Given the description of an element on the screen output the (x, y) to click on. 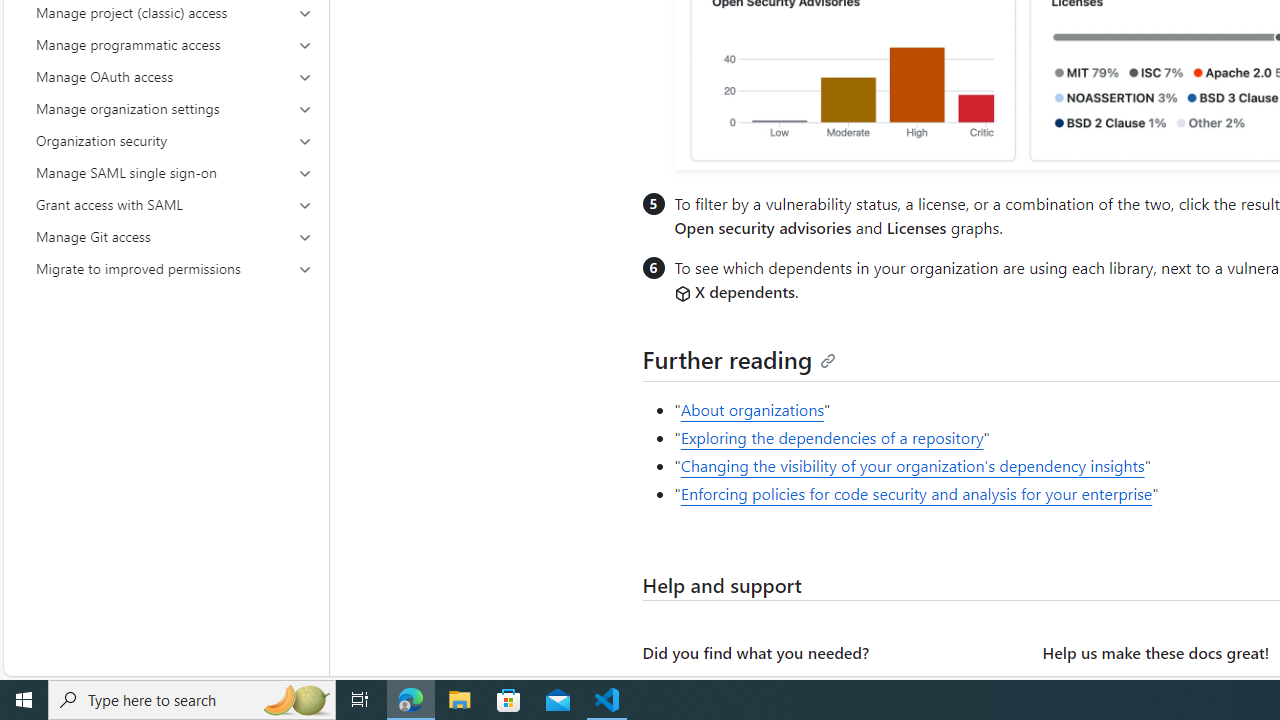
Organization security (174, 140)
Further reading (739, 358)
Migrate to improved permissions (174, 268)
Manage SAML single sign-on (174, 172)
Manage OAuth access (174, 76)
Grant access with SAML (174, 204)
Manage organization settings (174, 108)
Manage OAuth access (174, 76)
Manage organization settings (174, 108)
Manage Git access (174, 236)
Manage programmatic access (174, 44)
Manage SAML single sign-on (174, 172)
Manage Git access (174, 236)
Exploring the dependencies of a repository (831, 437)
